Given the description of an element on the screen output the (x, y) to click on. 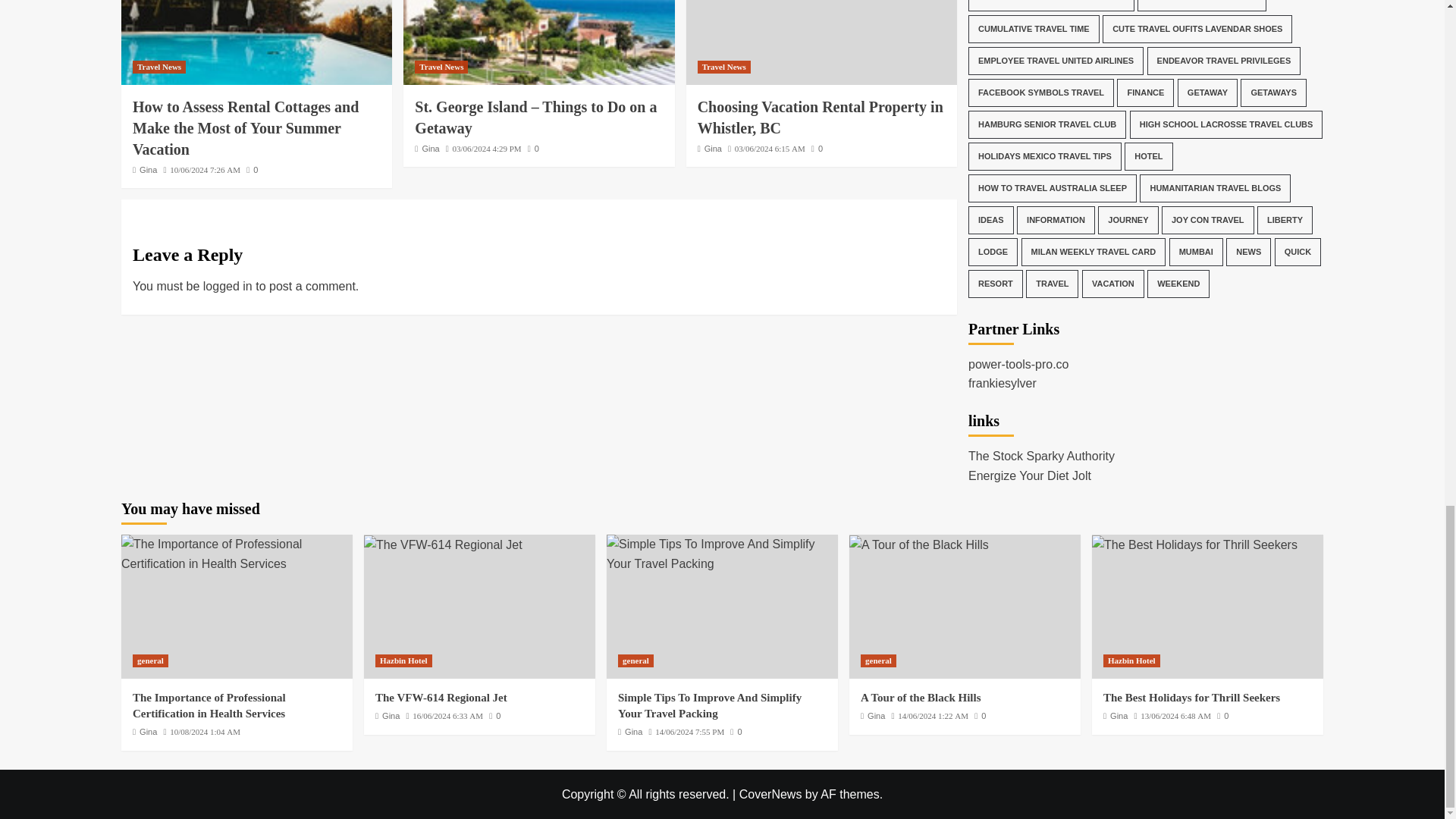
Simple Tips To Improve And Simplify Your Travel Packing (722, 553)
0 (532, 148)
Travel News (159, 66)
Gina (430, 148)
The VFW-614 Regional Jet (443, 545)
0 (251, 169)
Travel News (440, 66)
